Given the description of an element on the screen output the (x, y) to click on. 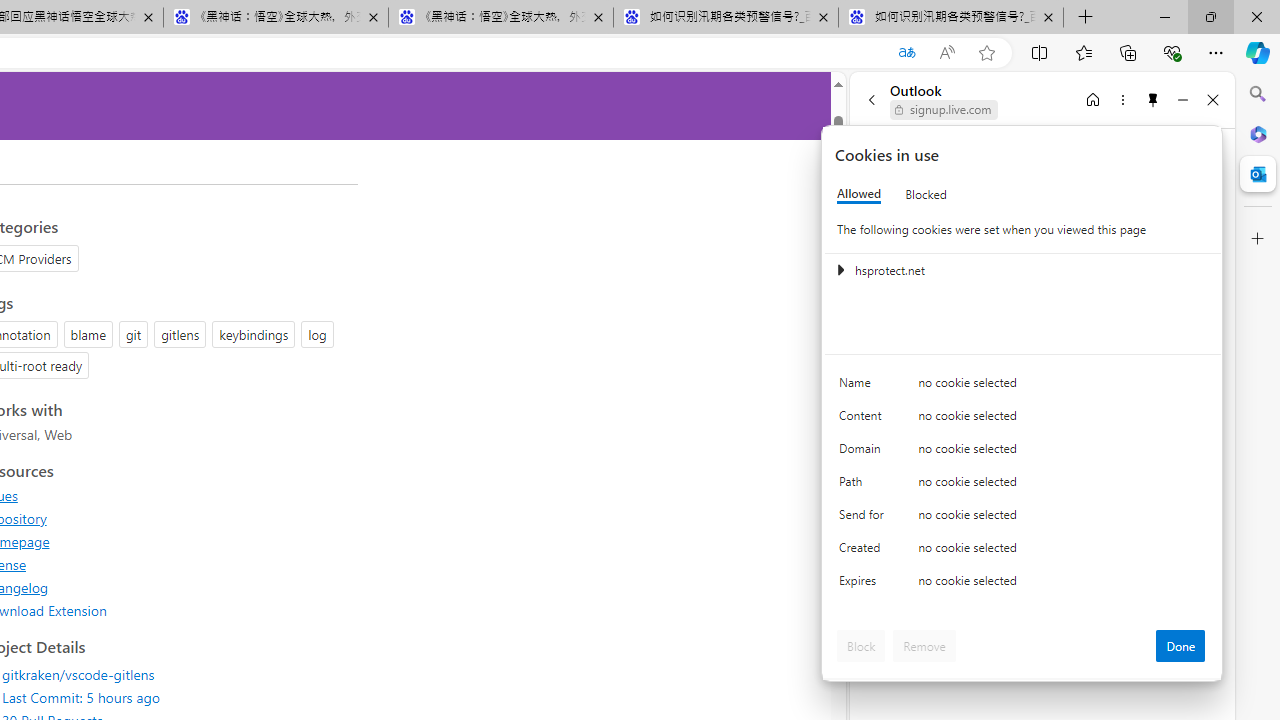
Name (864, 387)
Remove (924, 645)
Domain (864, 452)
Blocked (925, 193)
Done (1179, 645)
Send for (864, 518)
Expires (864, 585)
Path (864, 485)
Allowed (859, 193)
Class: c0153 c0157 (1023, 584)
Created (864, 552)
Block (861, 645)
Class: c0153 c0157 c0154 (1023, 386)
no cookie selected (1062, 585)
Content (864, 420)
